Given the description of an element on the screen output the (x, y) to click on. 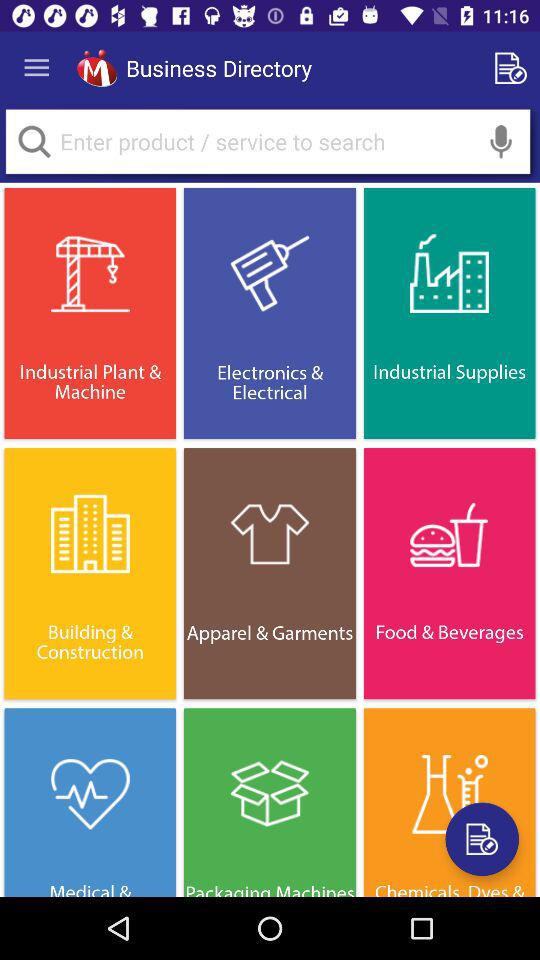
type product or service (267, 141)
